Given the description of an element on the screen output the (x, y) to click on. 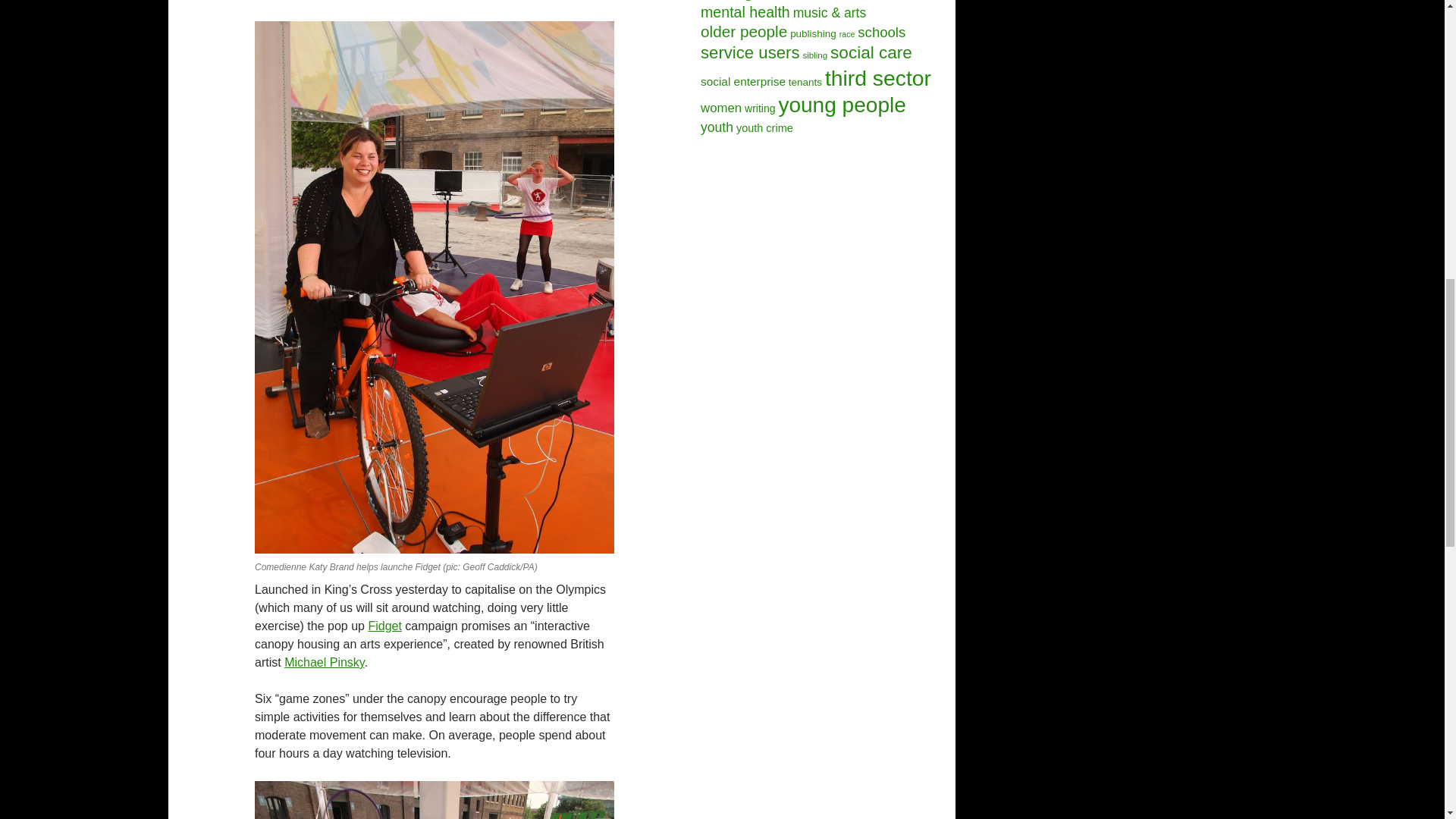
Fidget (384, 625)
Michael Pinsky (324, 662)
Dr (434, 800)
